Given the description of an element on the screen output the (x, y) to click on. 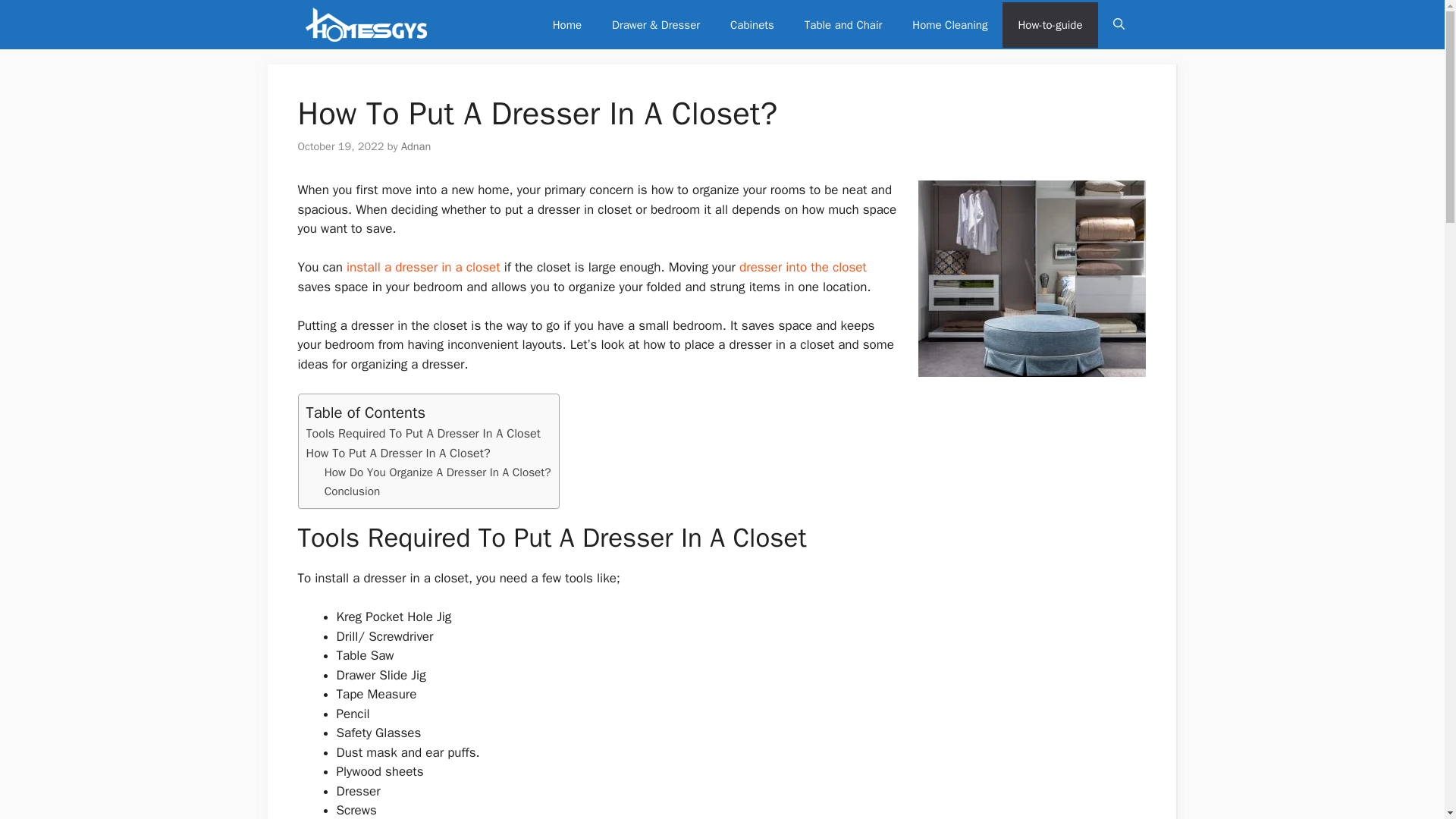
Home Cleaning (949, 23)
How To Put A Dresser In A Closet? (397, 453)
dresser into the closet (802, 267)
Cabinets (751, 23)
View all posts by Adnan (415, 146)
How Do You Organize A Dresser In A Closet? (437, 472)
Adnan (415, 146)
Conclusion (352, 491)
Home (566, 23)
Conclusion (352, 491)
How-to-guide (1050, 23)
Table and Chair (842, 23)
How To Put A Dresser In A Closet? (397, 453)
How Do You Organize A Dresser In A Closet? (437, 472)
Tools Required To Put A Dresser In A Closet (422, 433)
